Given the description of an element on the screen output the (x, y) to click on. 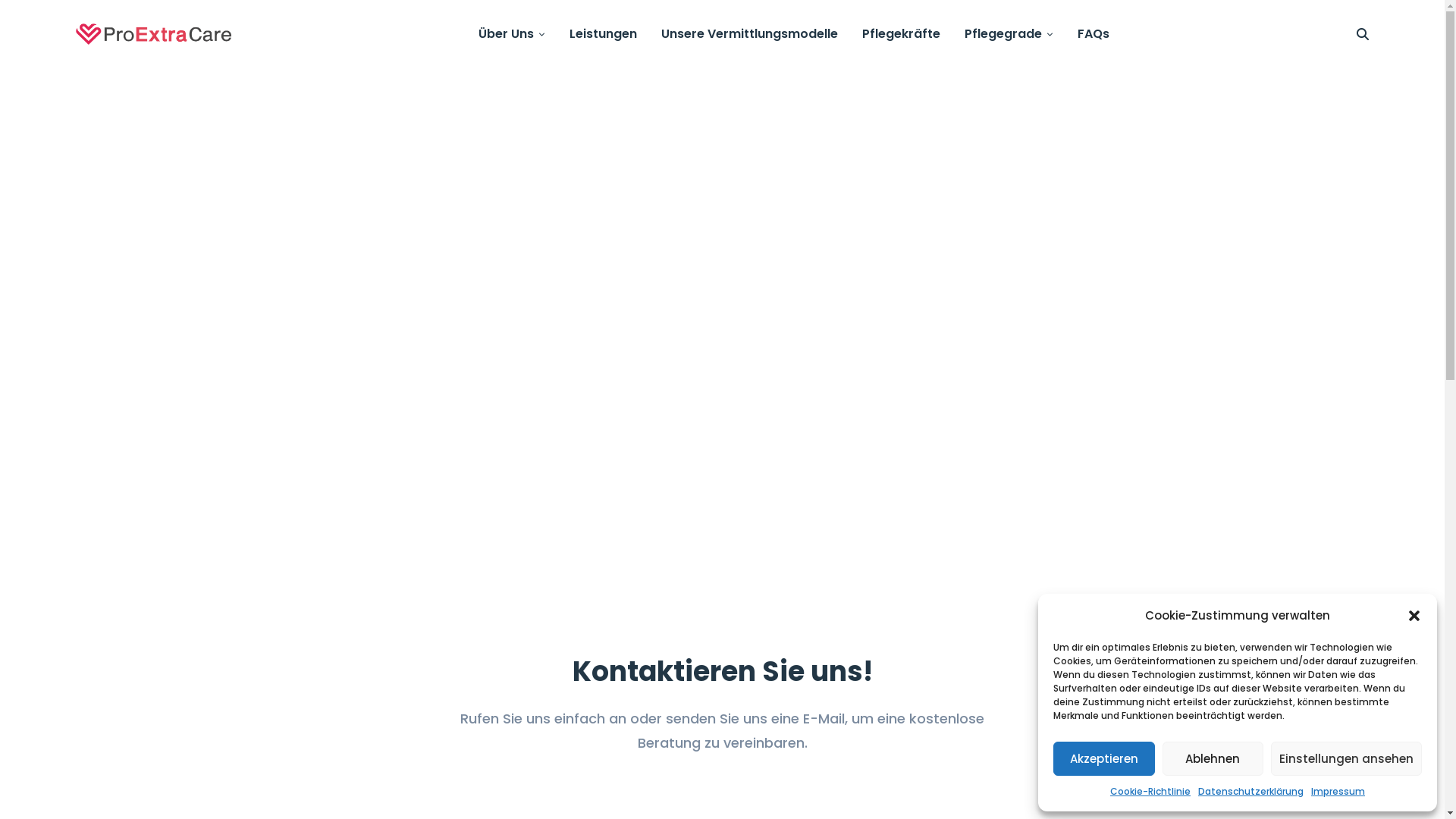
Einstellungen ansehen Element type: text (1345, 758)
Akzeptieren Element type: text (1103, 758)
Unsere Vermittlungsmodelle Element type: text (749, 33)
Impressum Element type: text (1338, 791)
Leistungen Element type: text (603, 33)
Pflegegrade Element type: text (1008, 33)
Ablehnen Element type: text (1212, 758)
FAQs Element type: text (1093, 33)
Cookie-Richtlinie Element type: text (1150, 791)
